Given the description of an element on the screen output the (x, y) to click on. 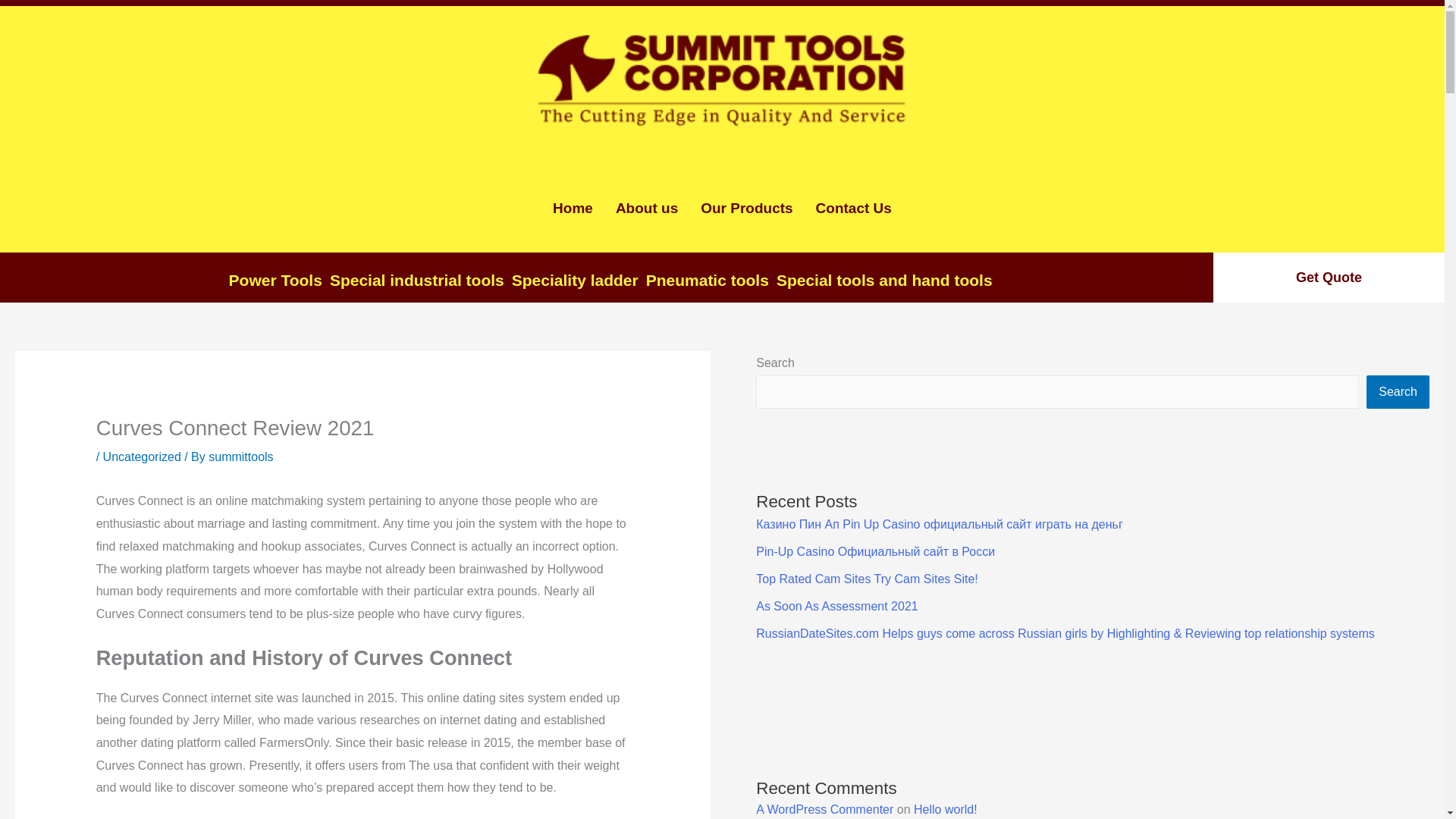
Contact Us (853, 208)
About us (646, 208)
Summit tools logo hq-05-05 (722, 77)
Our Products (745, 208)
Special industrial tools (412, 280)
View all posts by summittools (240, 456)
Power Tools (271, 280)
Home (572, 208)
